Given the description of an element on the screen output the (x, y) to click on. 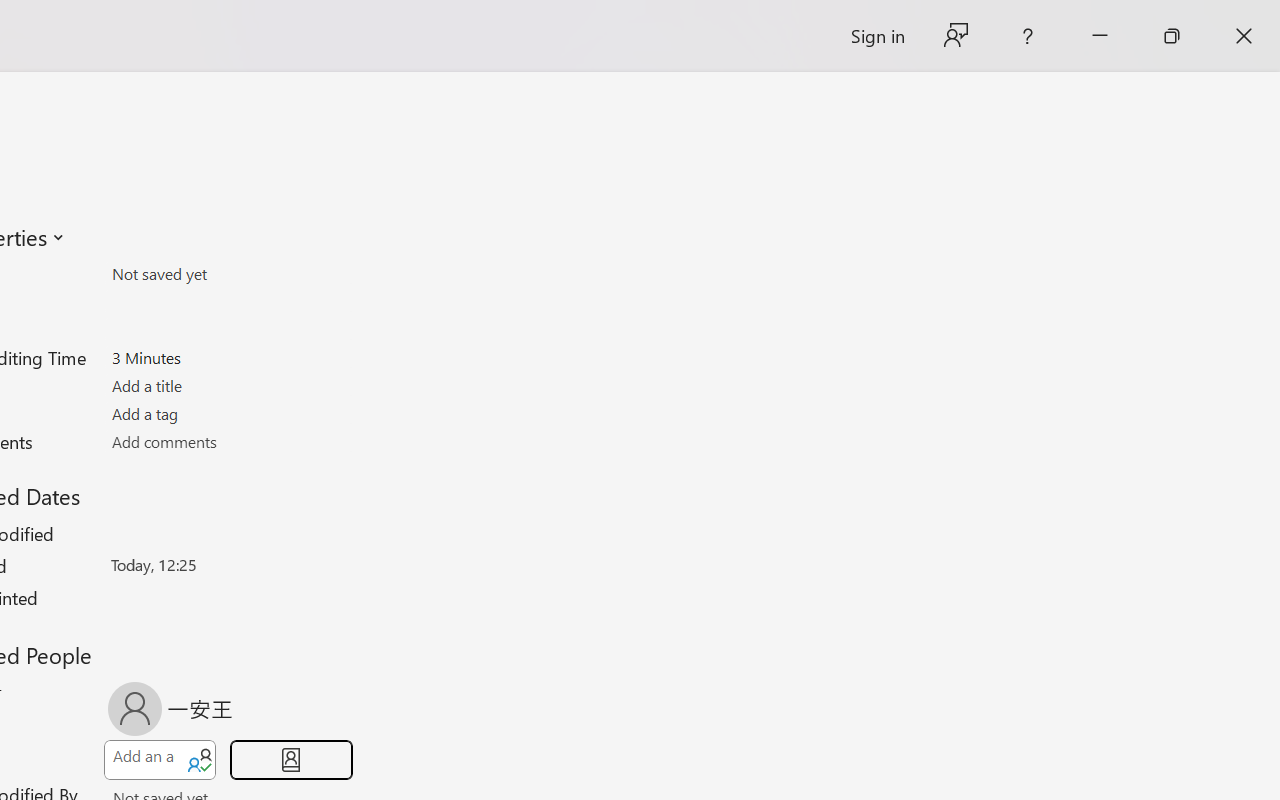
Title (228, 386)
